Given the description of an element on the screen output the (x, y) to click on. 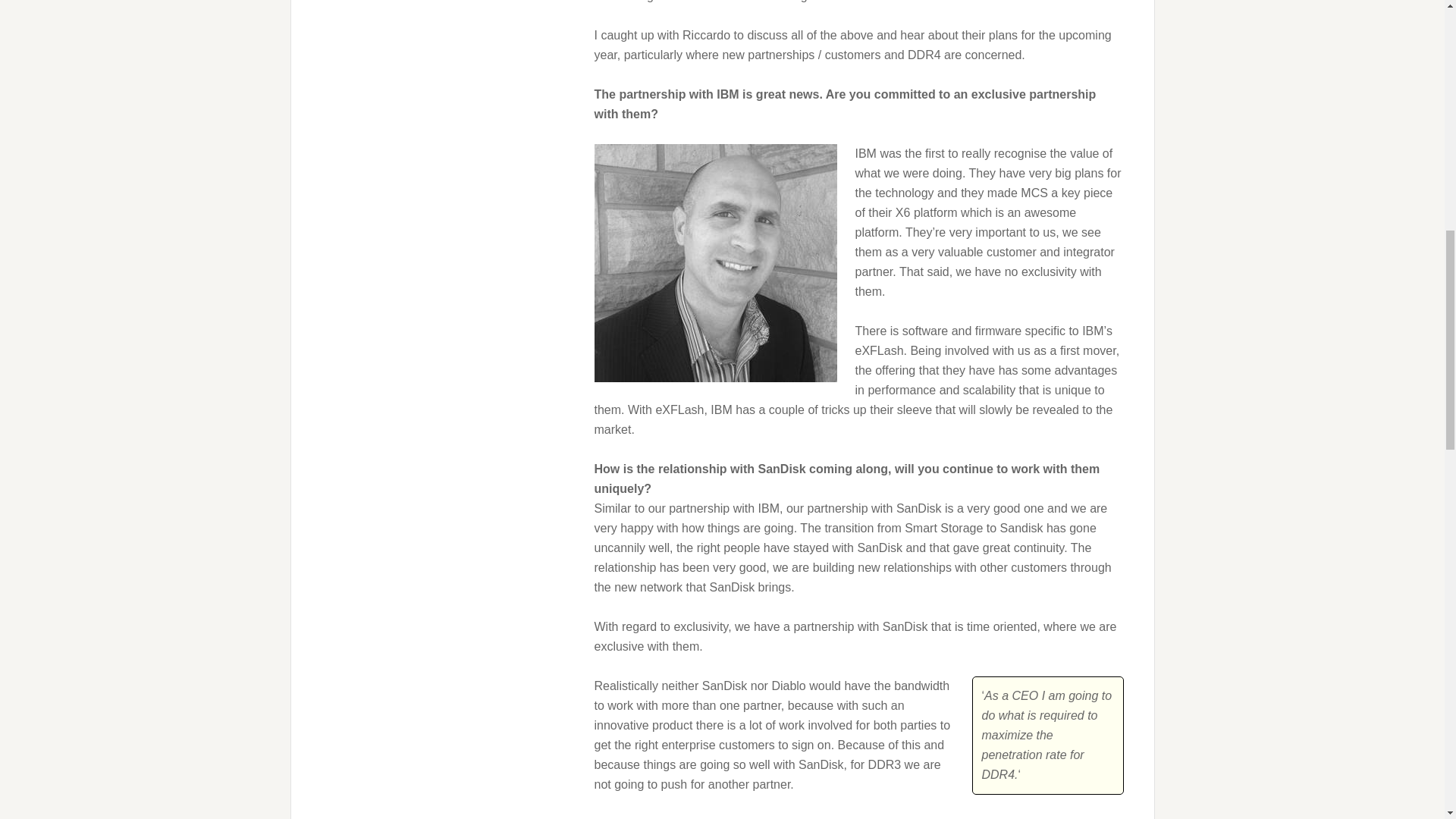
lawsuit (685, 1)
